Given the description of an element on the screen output the (x, y) to click on. 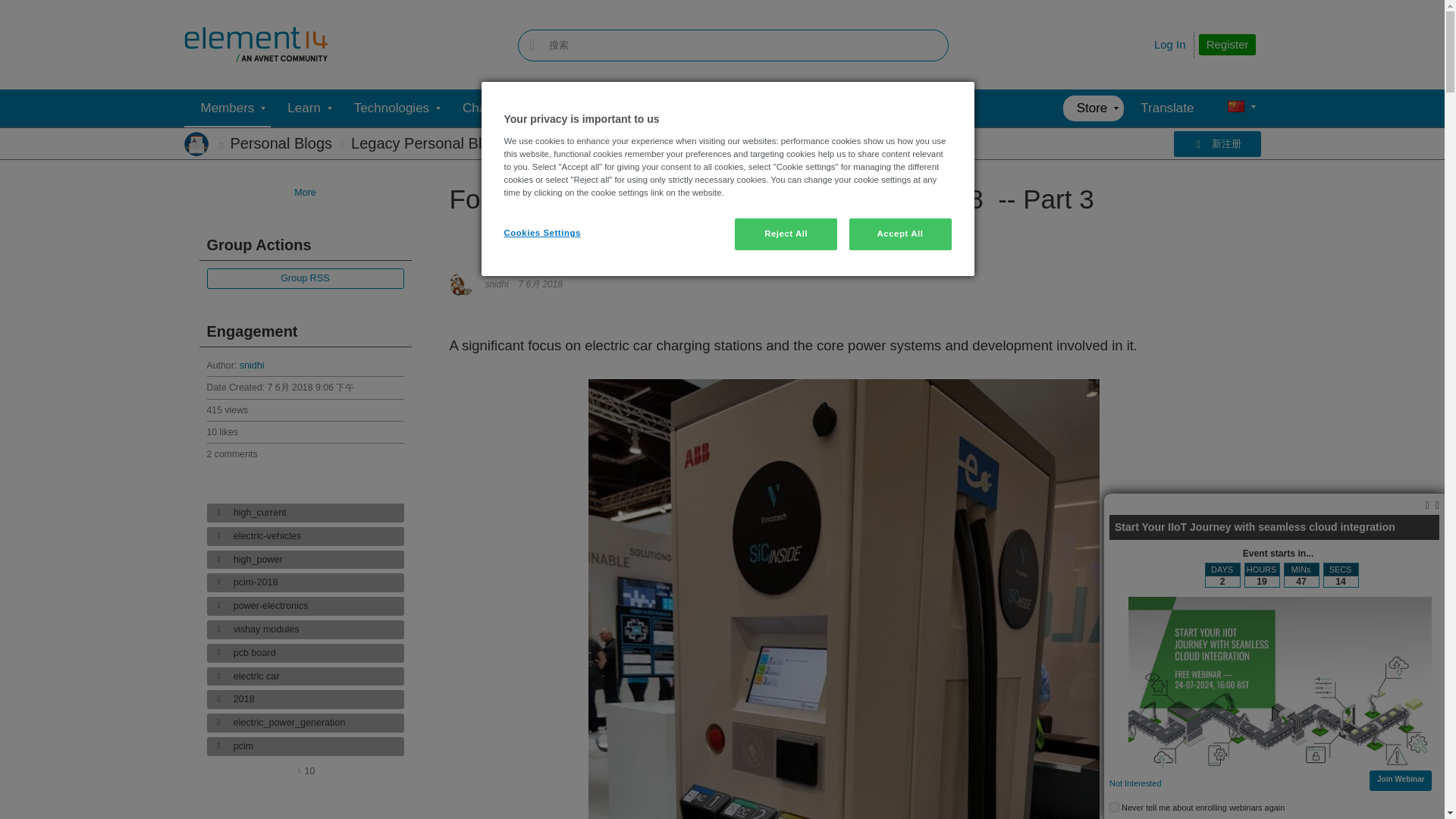
Members (226, 108)
Technologies (391, 108)
Log In (1170, 44)
Join Webinar (1401, 778)
Register (1226, 44)
Register (1226, 44)
on (1114, 807)
Learn (303, 108)
Log In (1170, 44)
